Given the description of an element on the screen output the (x, y) to click on. 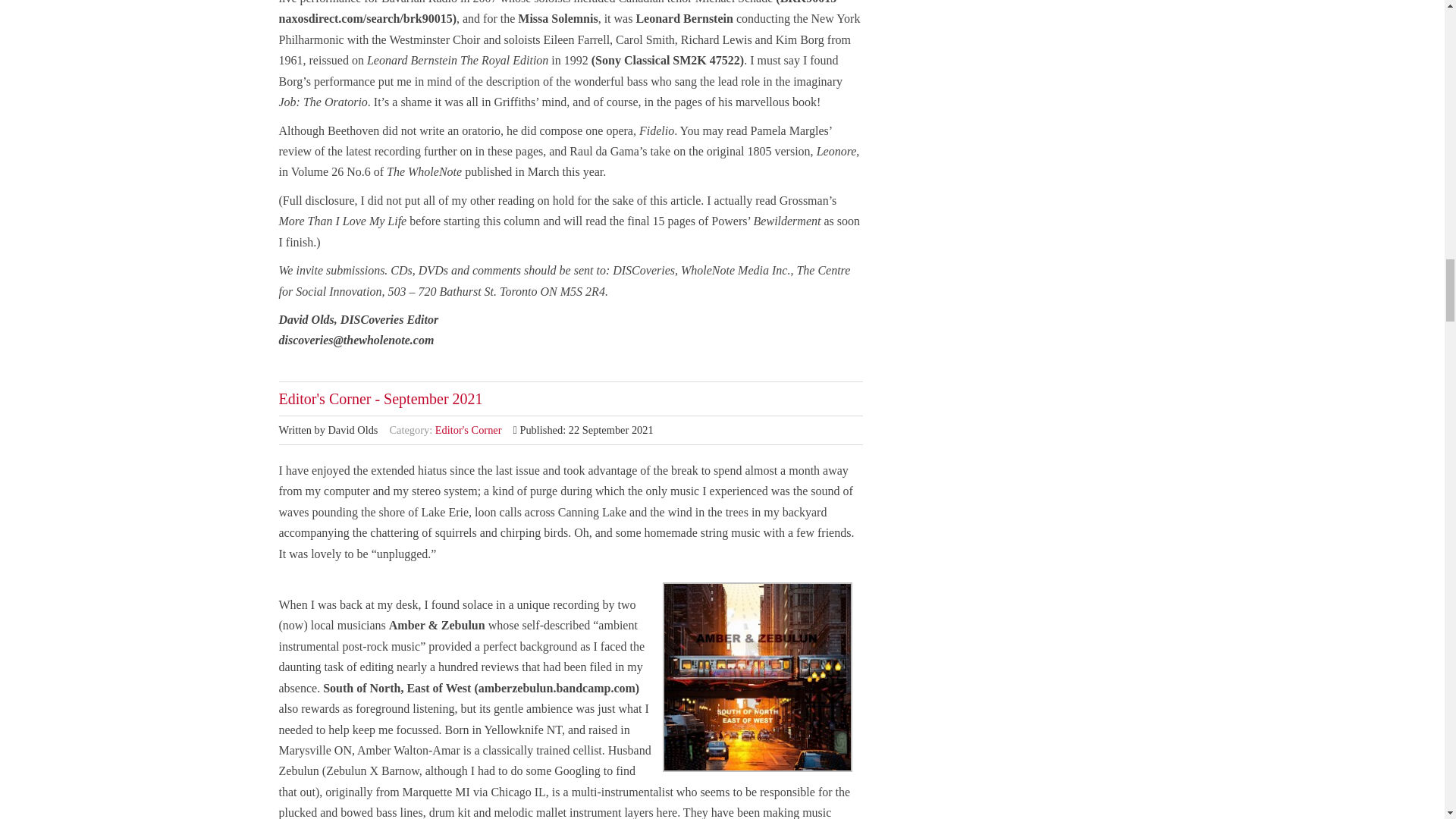
Editor's Corner - September 2021 (381, 398)
